Given the description of an element on the screen output the (x, y) to click on. 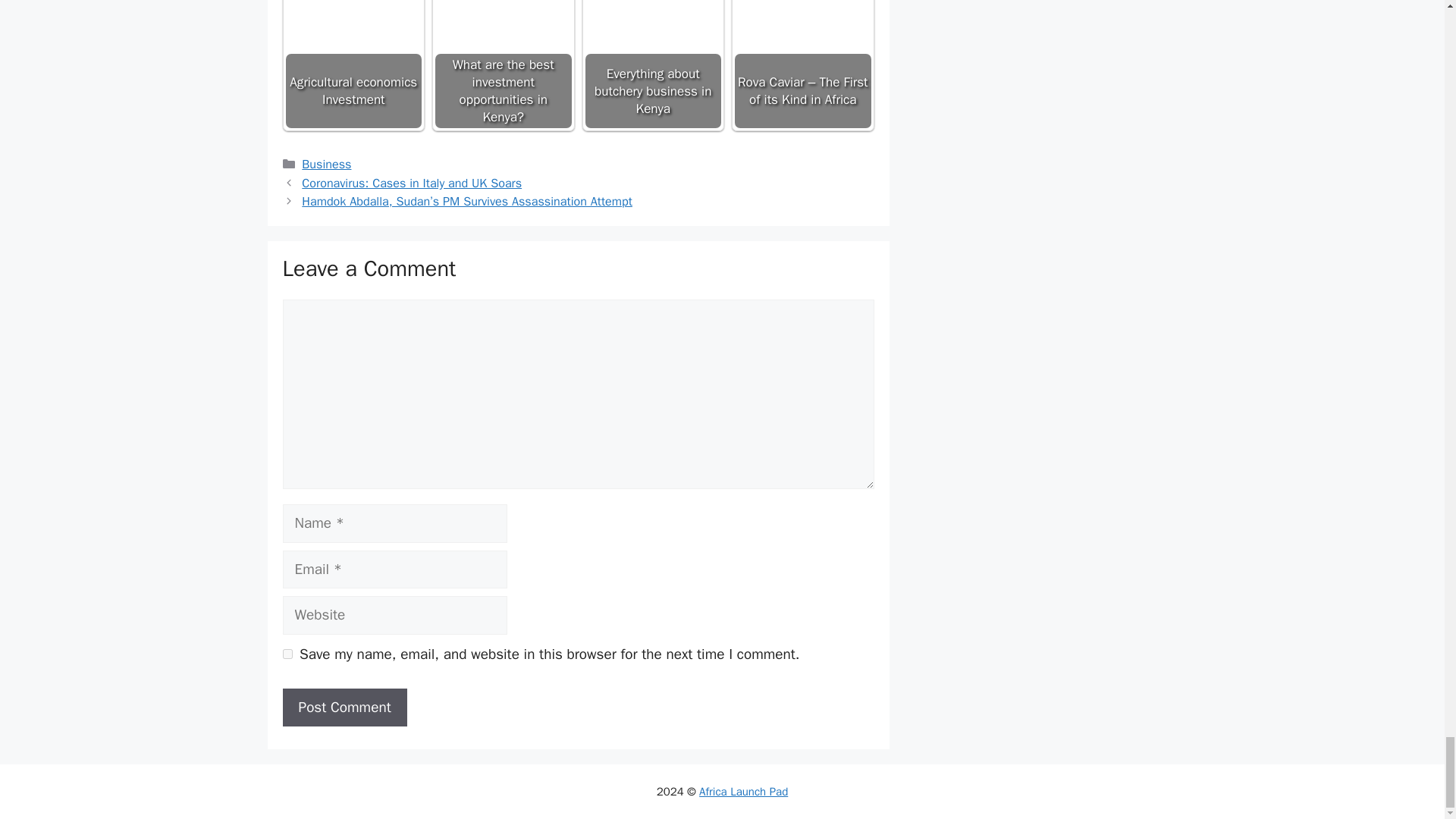
What are the best investment opportunities in Kenya? (503, 8)
Everything about butchery business in Kenya (652, 8)
yes (287, 654)
Agricultural economics Investment (353, 28)
Post Comment (344, 707)
